Given the description of an element on the screen output the (x, y) to click on. 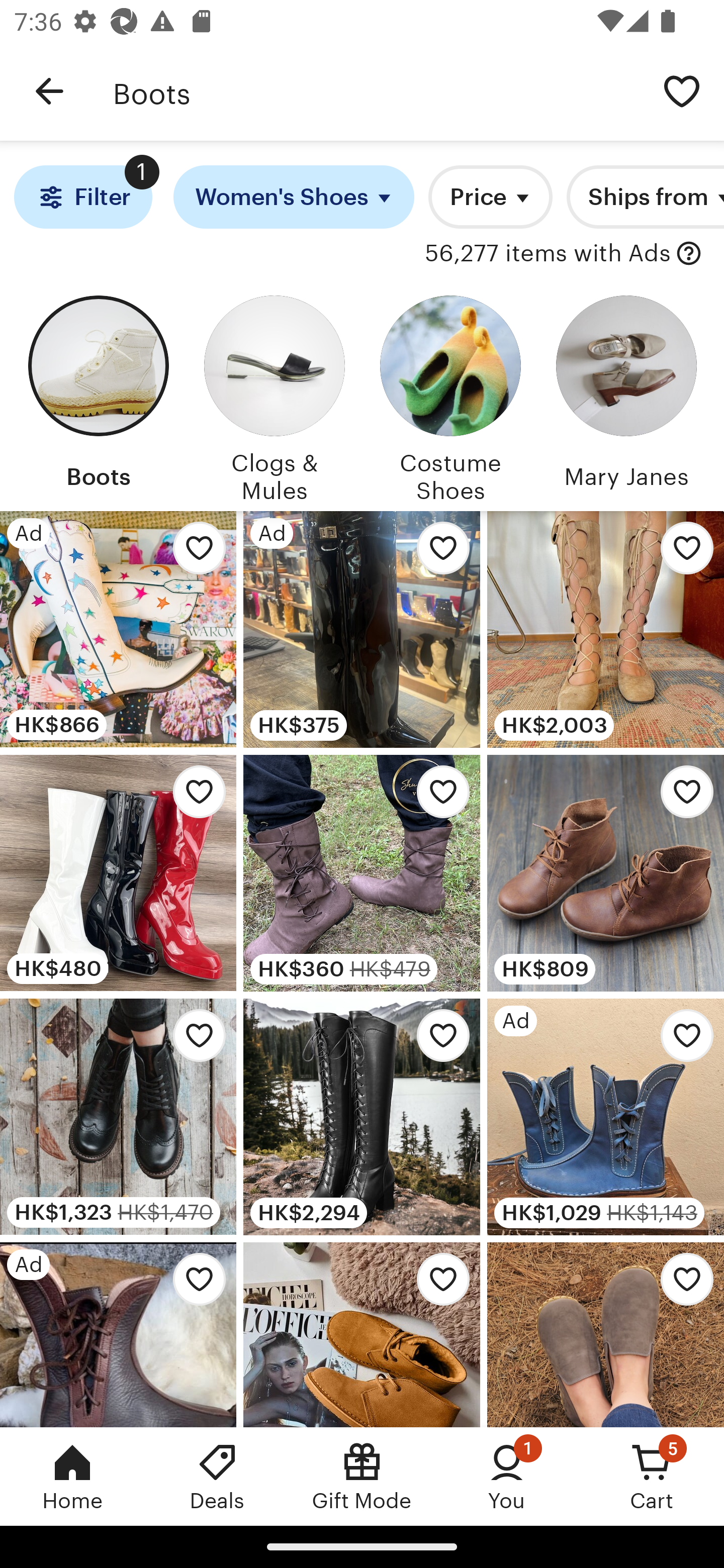
Navigate up (49, 91)
Save search (681, 90)
Boots (375, 91)
Filter (82, 197)
Women's Shoes (293, 197)
Price (490, 197)
Ships from (645, 197)
56,277 items with Ads (547, 253)
with Ads (688, 253)
Boots (97, 395)
Clogs & Mules (273, 395)
Costume Shoes (449, 395)
Mary Janes (625, 395)
Deals (216, 1475)
Gift Mode (361, 1475)
You, 1 new notification You (506, 1475)
Cart, 5 new notifications Cart (651, 1475)
